Given the description of an element on the screen output the (x, y) to click on. 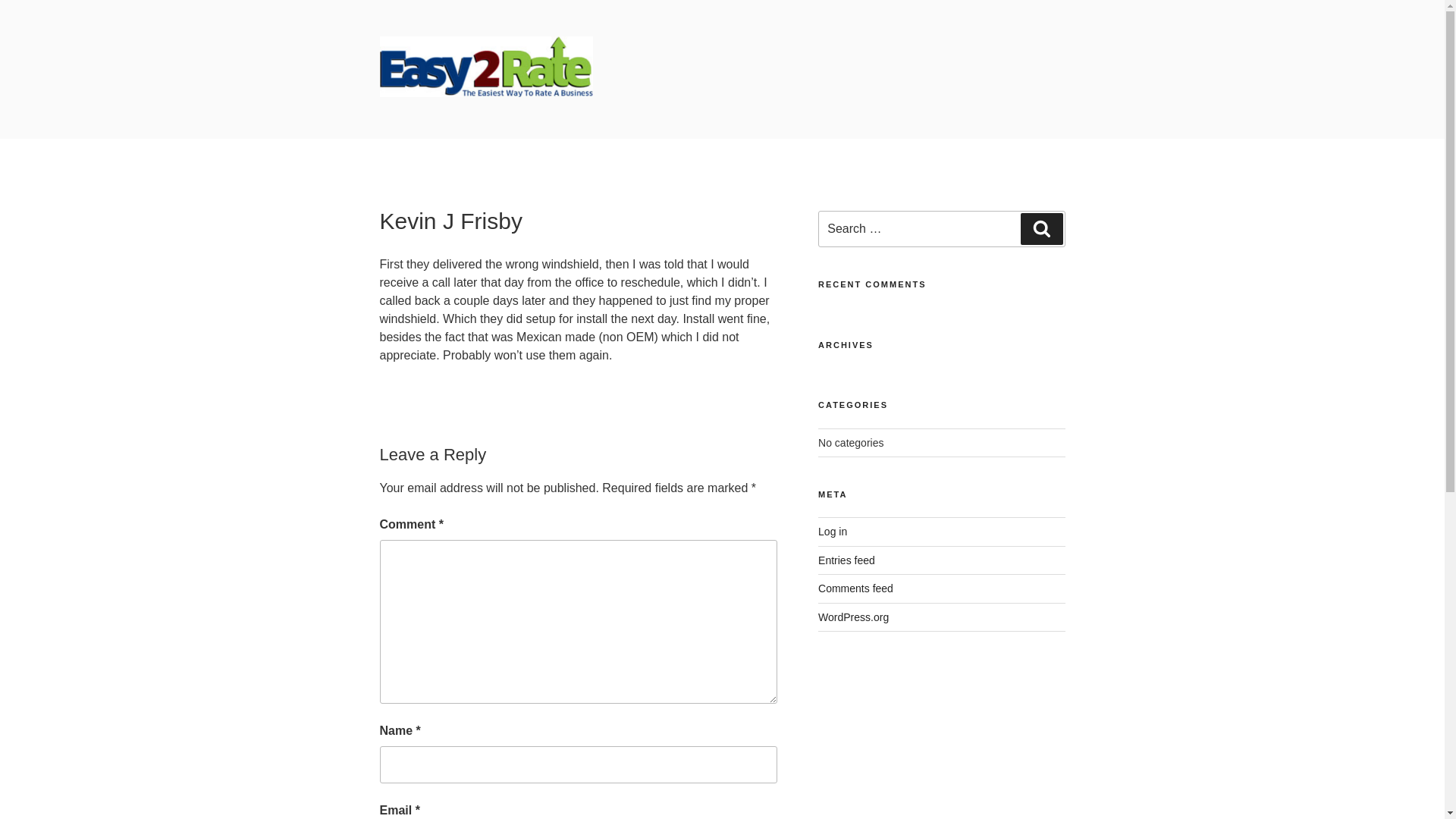
WordPress.org (853, 616)
Search (1041, 228)
Log in (832, 531)
Entries feed (846, 560)
SAFEPRO (451, 119)
Comments feed (855, 588)
